Given the description of an element on the screen output the (x, y) to click on. 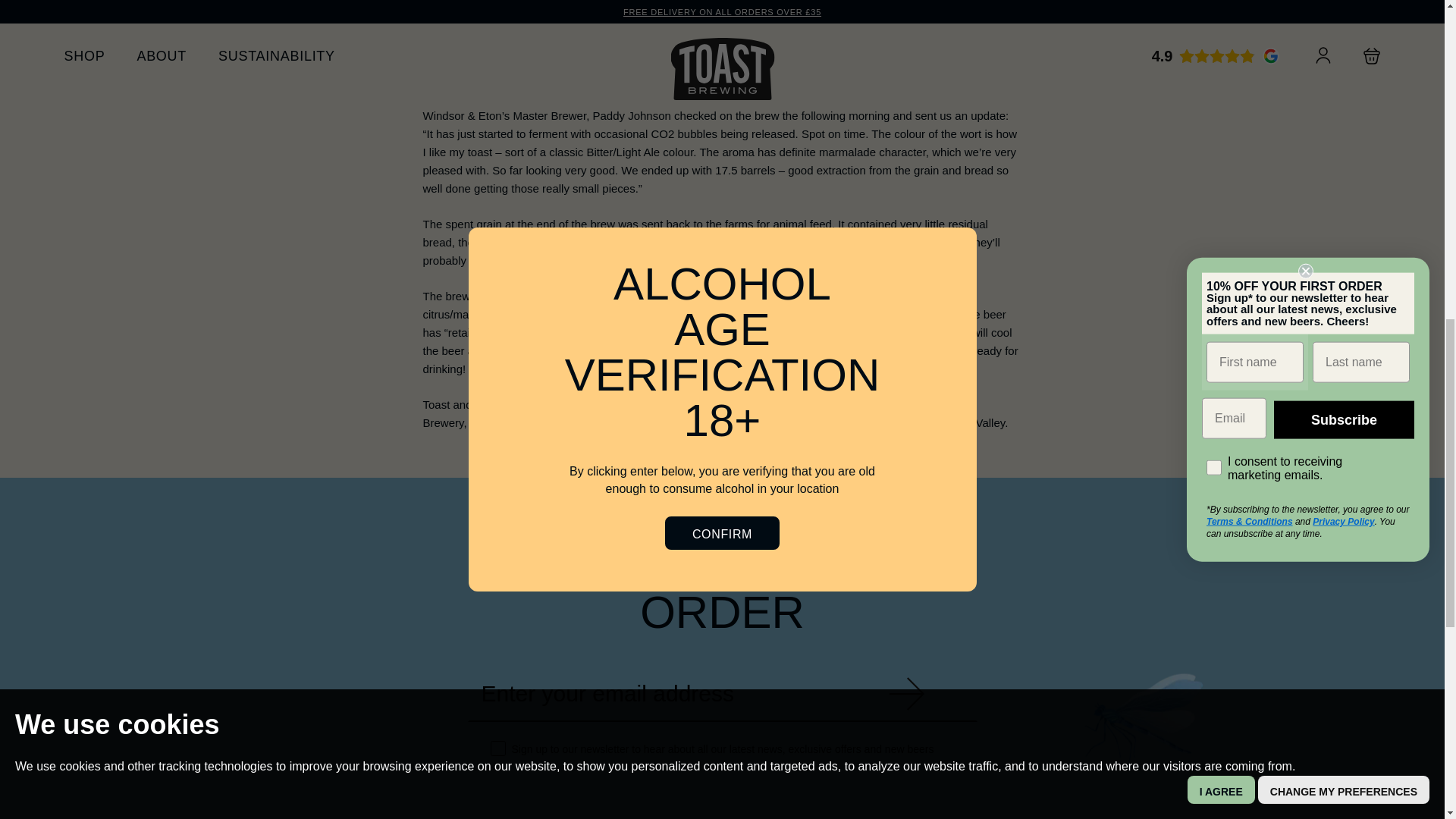
Subscribe (906, 693)
Rejuce (676, 24)
